Given the description of an element on the screen output the (x, y) to click on. 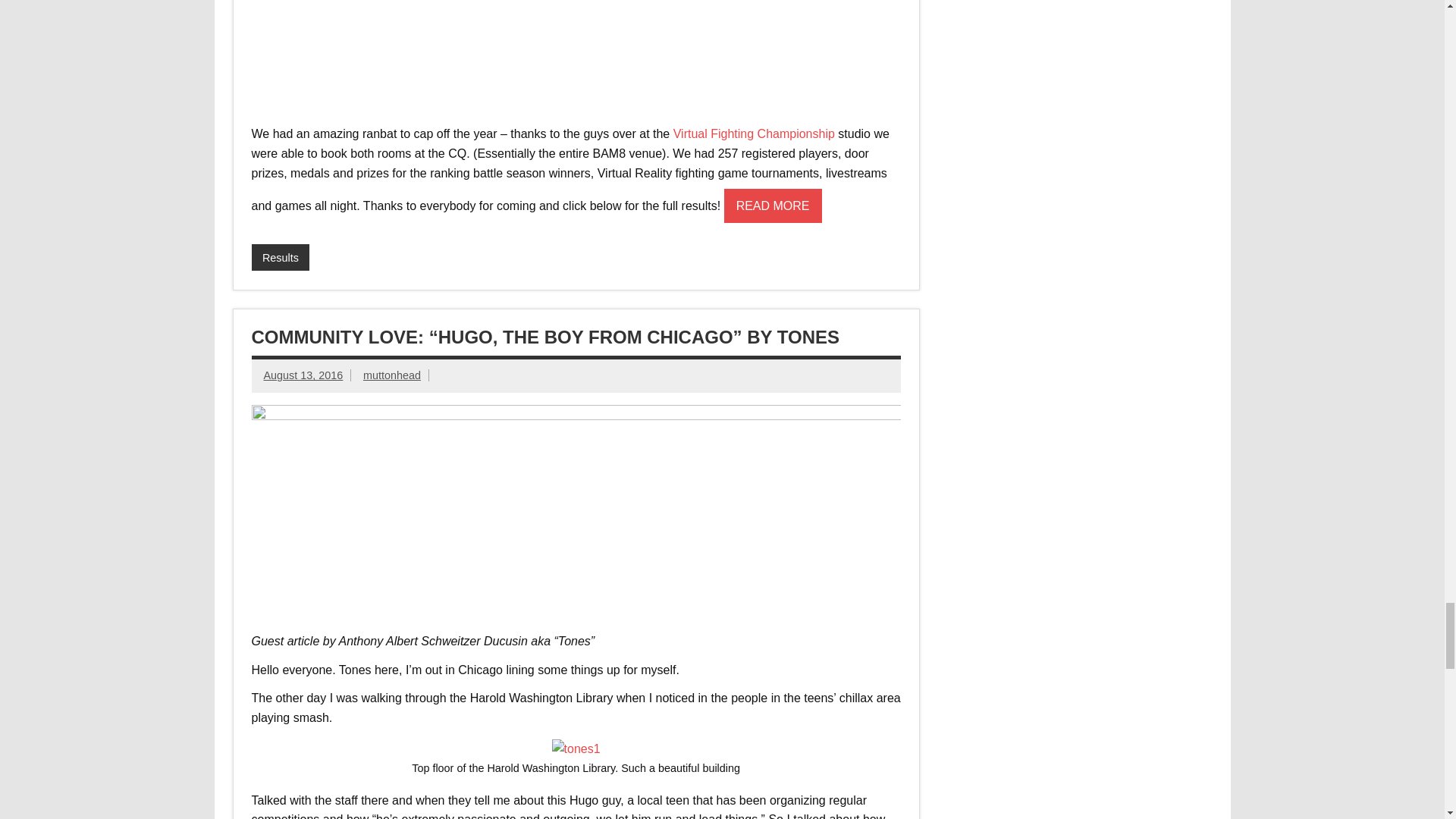
12:41 pm (303, 375)
